Given the description of an element on the screen output the (x, y) to click on. 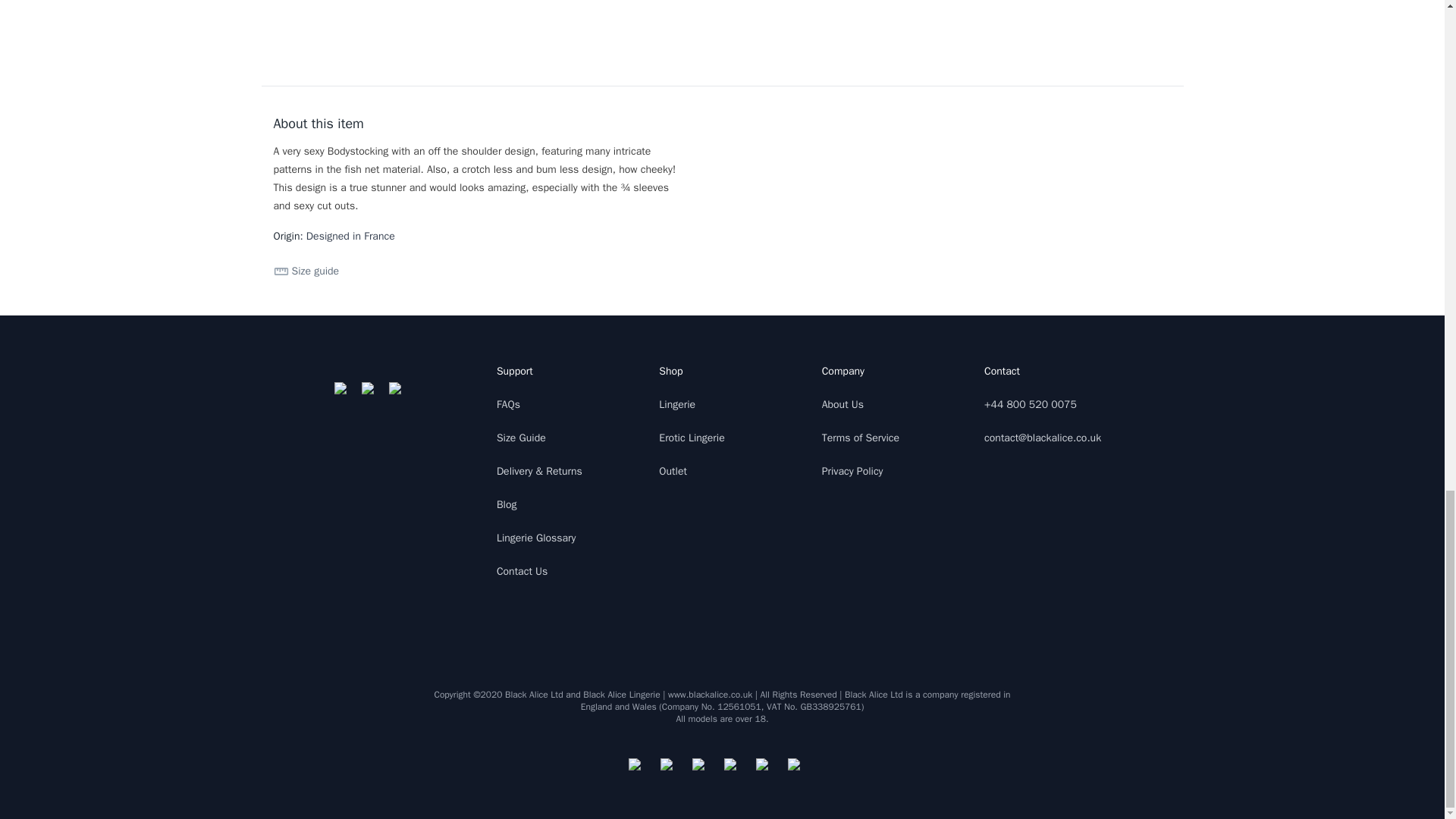
Outlet (673, 471)
Lingerie (677, 404)
Size guide (306, 271)
Size Guide (521, 437)
Lingerie Glossary (536, 537)
FAQs (507, 404)
Blog (506, 504)
Contact Us (521, 571)
Erotic Lingerie (691, 437)
